Given the description of an element on the screen output the (x, y) to click on. 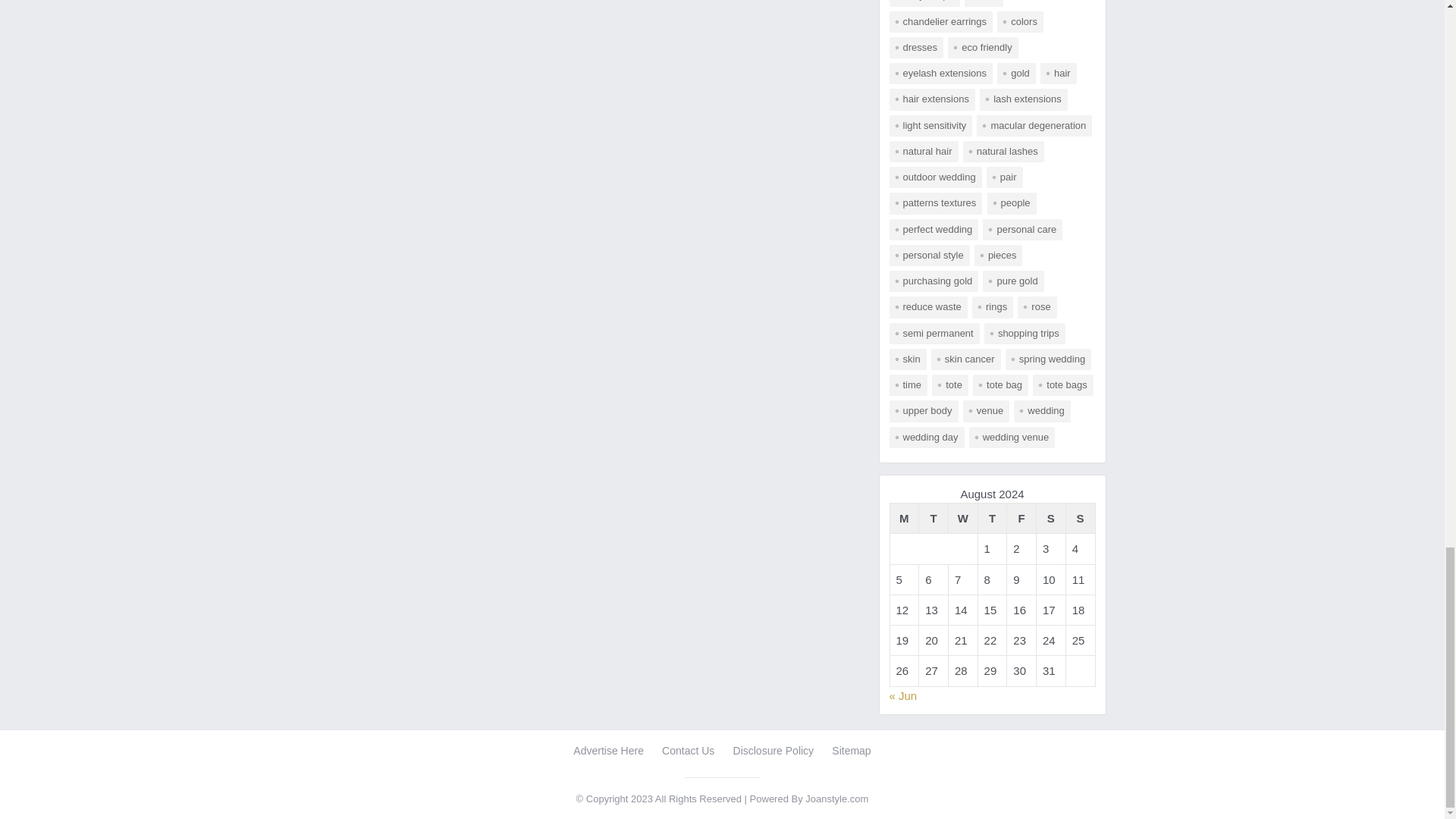
Monday (903, 518)
Tuesday (933, 518)
Friday (1021, 518)
Wednesday (961, 518)
Thursday (991, 518)
